Given the description of an element on the screen output the (x, y) to click on. 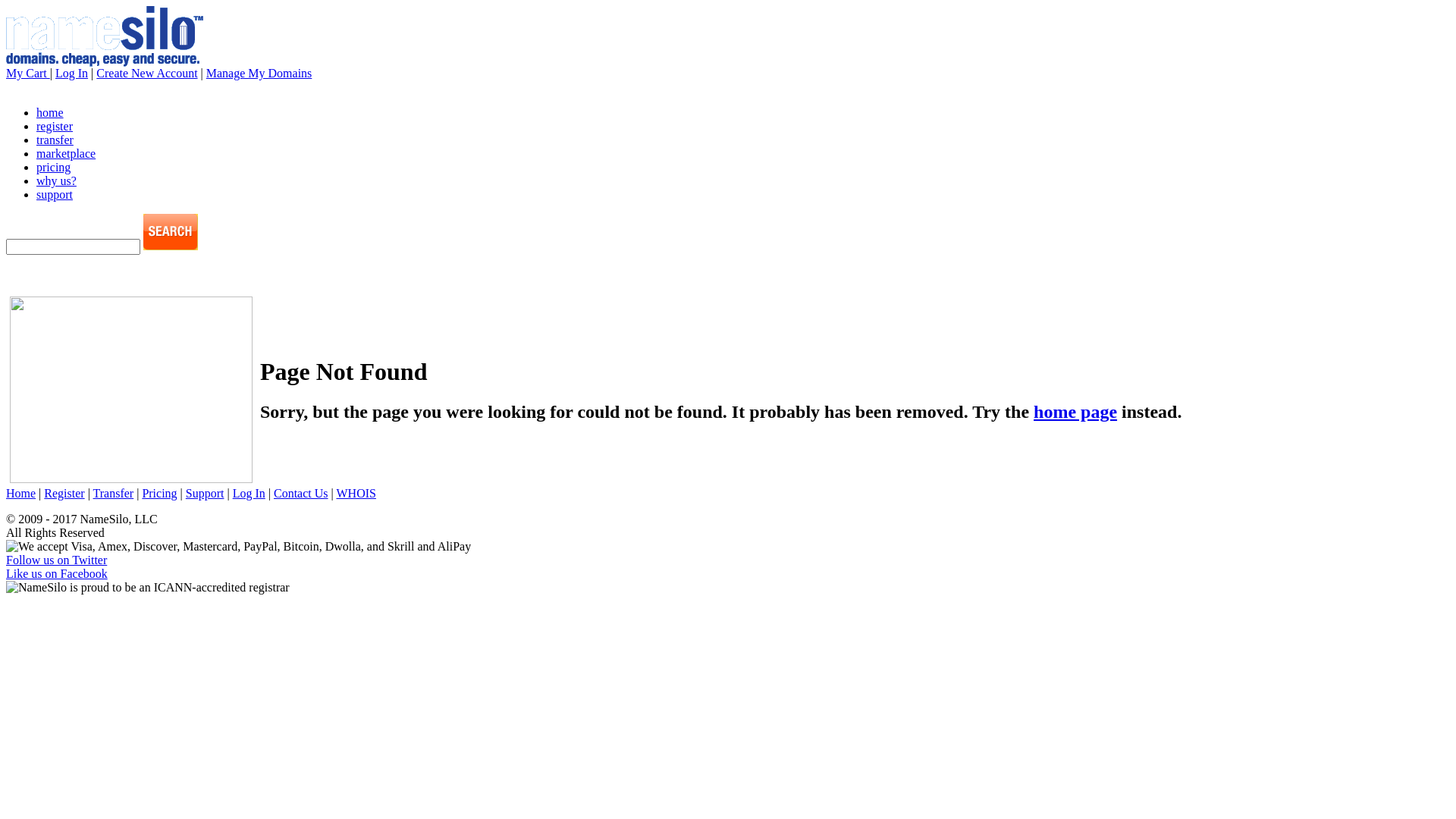
Log In Element type: text (71, 72)
home Element type: text (49, 112)
Create New Account Element type: text (146, 72)
Follow us on Twitter Element type: text (56, 559)
Home Element type: text (20, 492)
My Cart Element type: text (28, 72)
WHOIS Element type: text (355, 492)
Manage My Domains Element type: text (259, 72)
transfer Element type: text (54, 139)
Pricing Element type: text (158, 492)
Like us on Facebook Element type: text (56, 573)
why us? Element type: text (56, 180)
register Element type: text (54, 125)
Log In Element type: text (248, 492)
marketplace Element type: text (65, 153)
Register Element type: text (63, 492)
Support Element type: text (204, 492)
support Element type: text (54, 194)
NameSilo is proud to be an ICANN-accredited registrar Element type: hover (147, 587)
Contact Us Element type: text (300, 492)
pricing Element type: text (53, 166)
home page Element type: text (1075, 411)
Transfer Element type: text (113, 492)
